Given the description of an element on the screen output the (x, y) to click on. 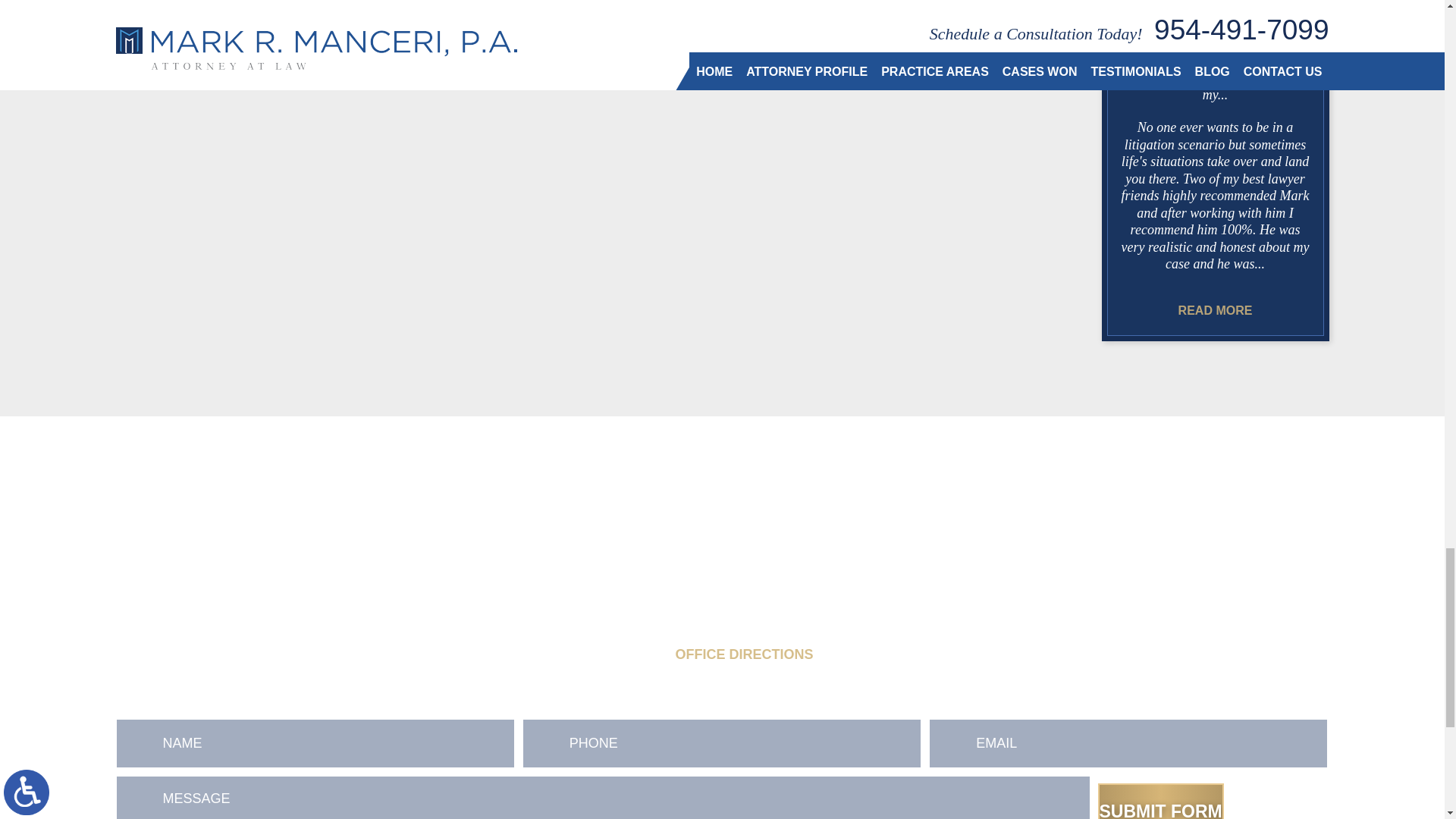
Submit Form (1160, 800)
